Given the description of an element on the screen output the (x, y) to click on. 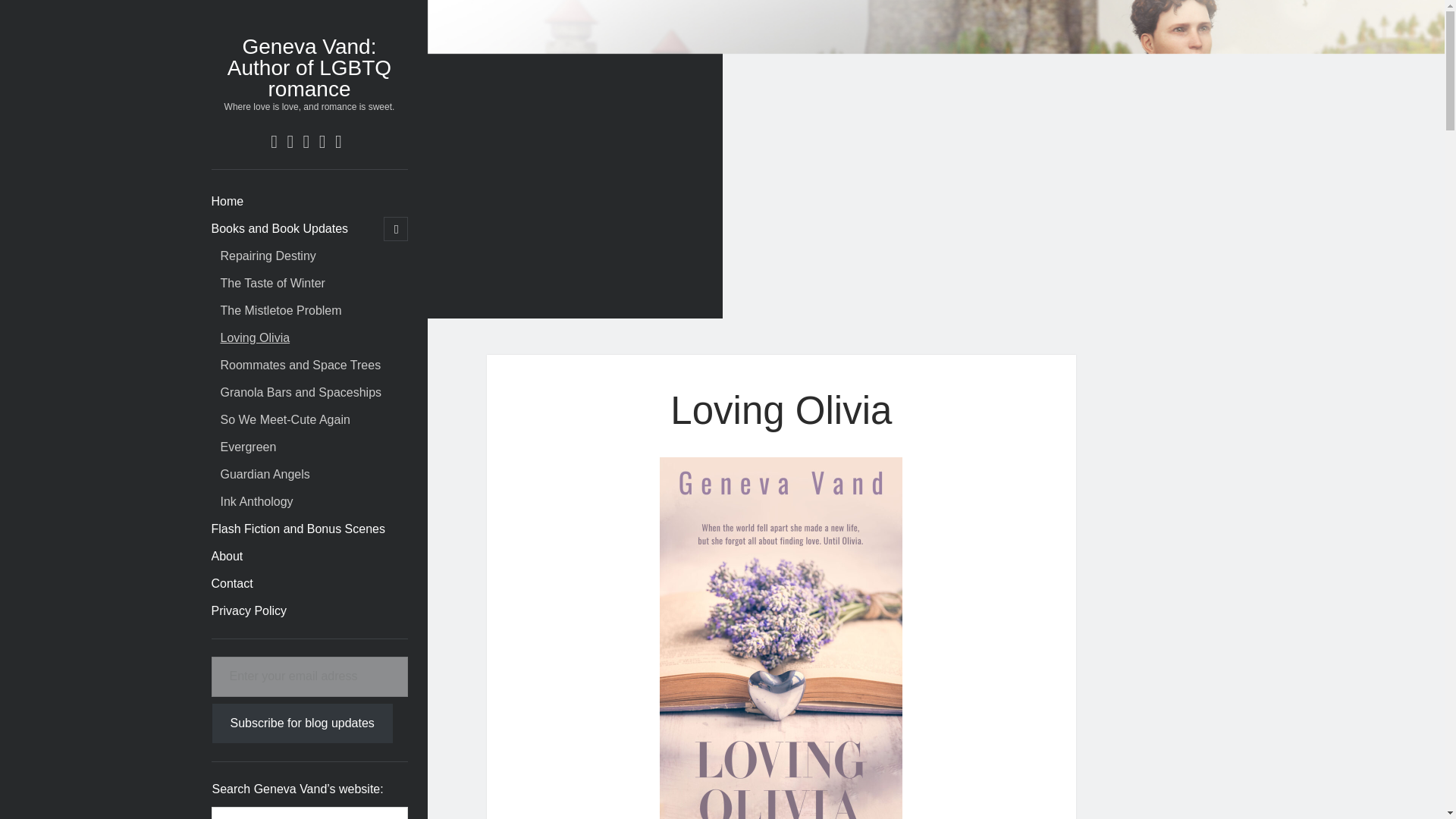
Search for: (309, 813)
The Mistletoe Problem (279, 311)
About (227, 556)
Flash Fiction and Bonus Scenes (297, 529)
Granola Bars and Spaceships (300, 393)
open child menu (395, 228)
Evergreen (247, 447)
Geneva Vand: Author of LGBTQ romance (309, 67)
Please fill in this field. (309, 676)
Loving Olivia (254, 338)
